Given the description of an element on the screen output the (x, y) to click on. 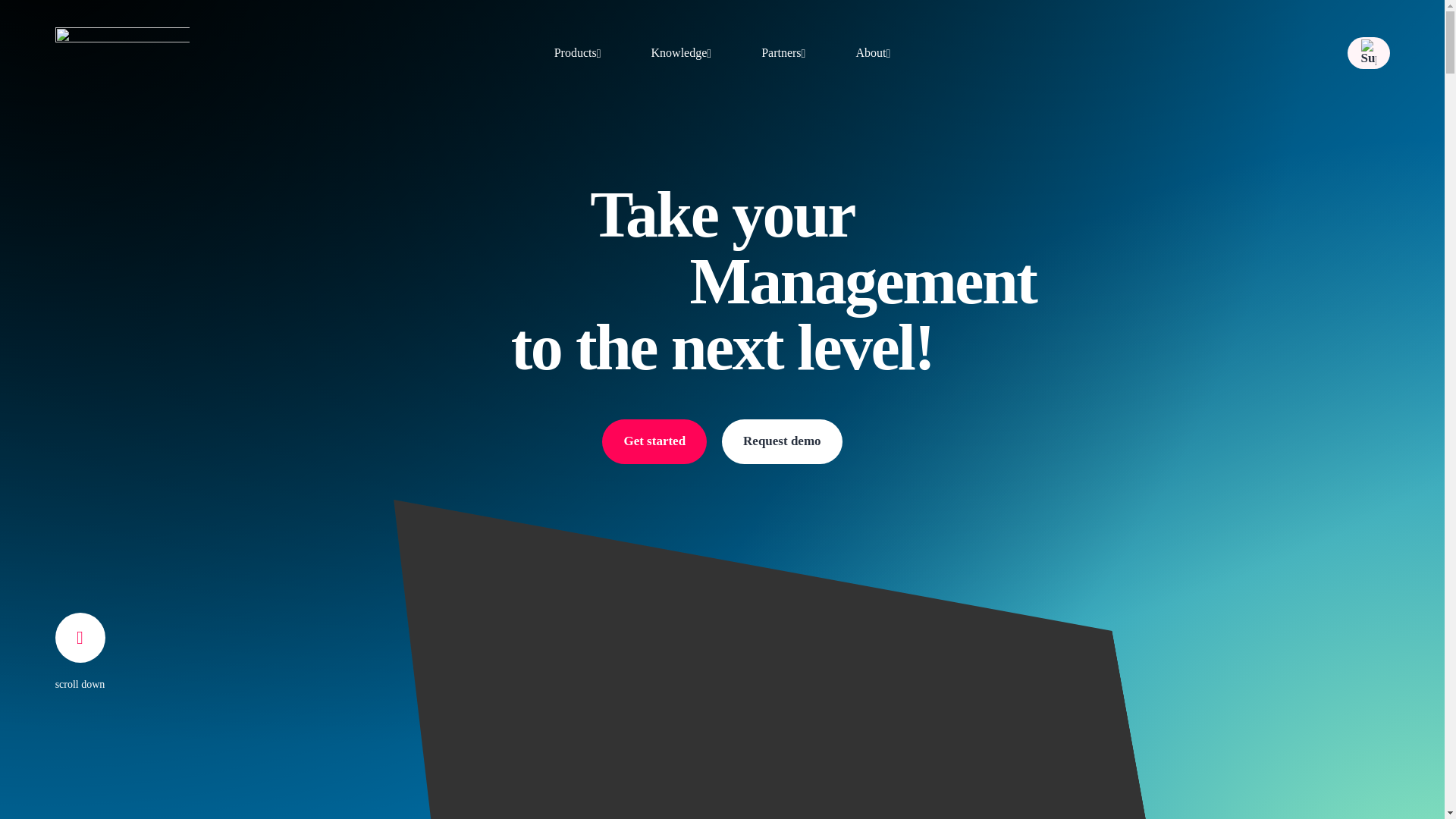
Partners (783, 52)
scroll down (79, 684)
Get started (654, 441)
About (872, 52)
Knowledge (680, 52)
Request demo (781, 441)
Products (577, 52)
